Given the description of an element on the screen output the (x, y) to click on. 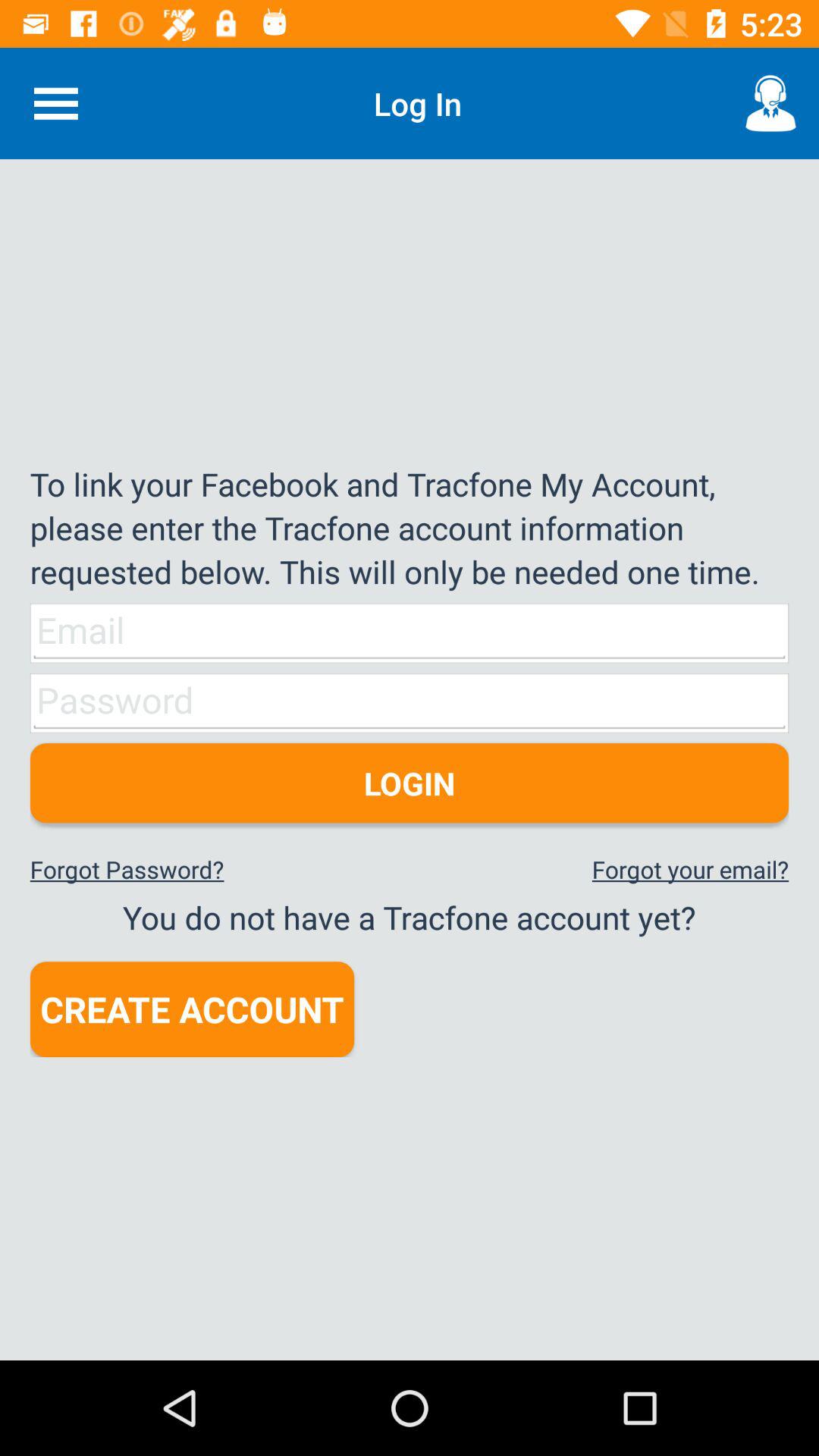
launch the item below the login (690, 869)
